Given the description of an element on the screen output the (x, y) to click on. 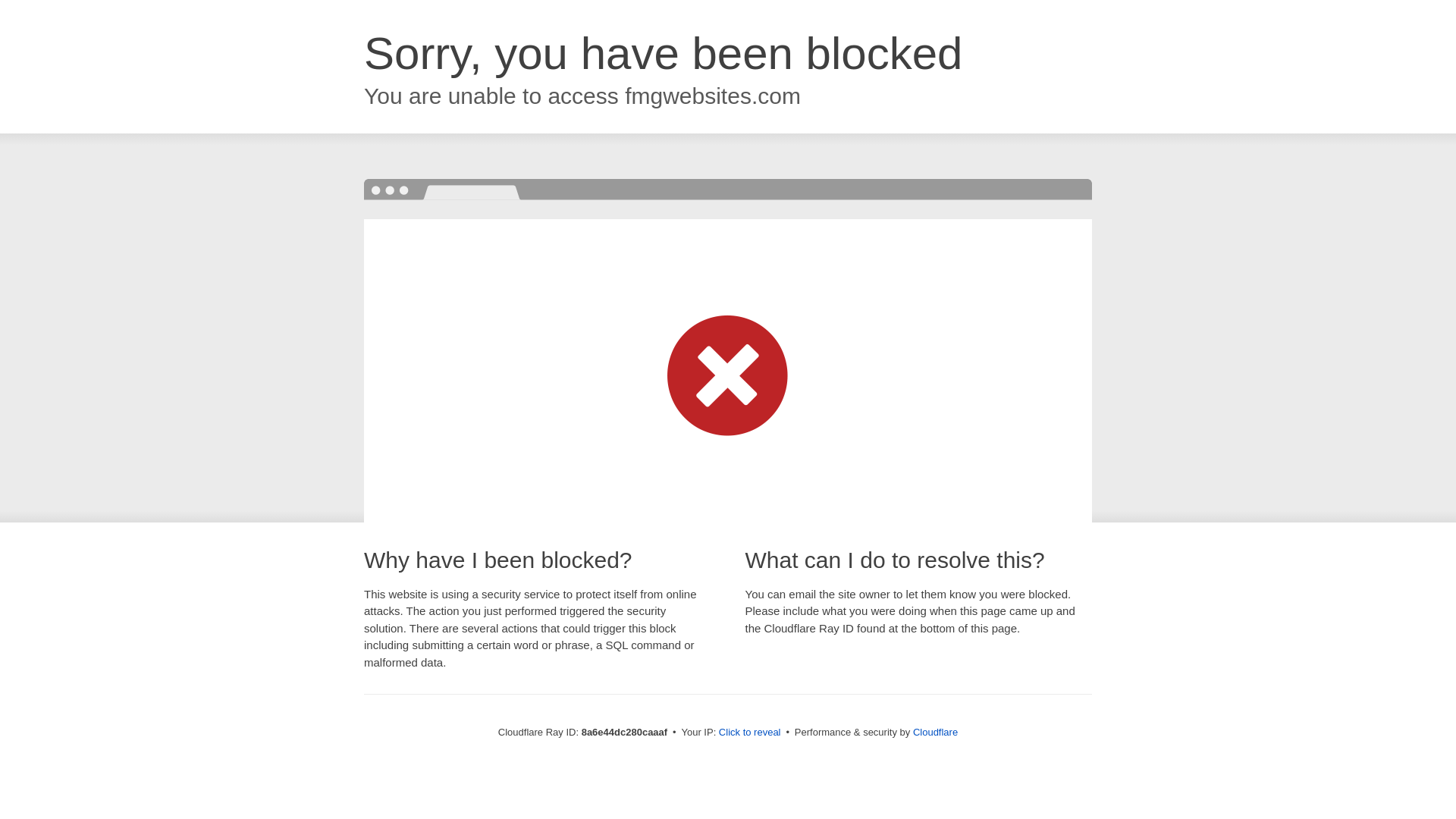
Click to reveal (749, 732)
Cloudflare (935, 731)
